Given the description of an element on the screen output the (x, y) to click on. 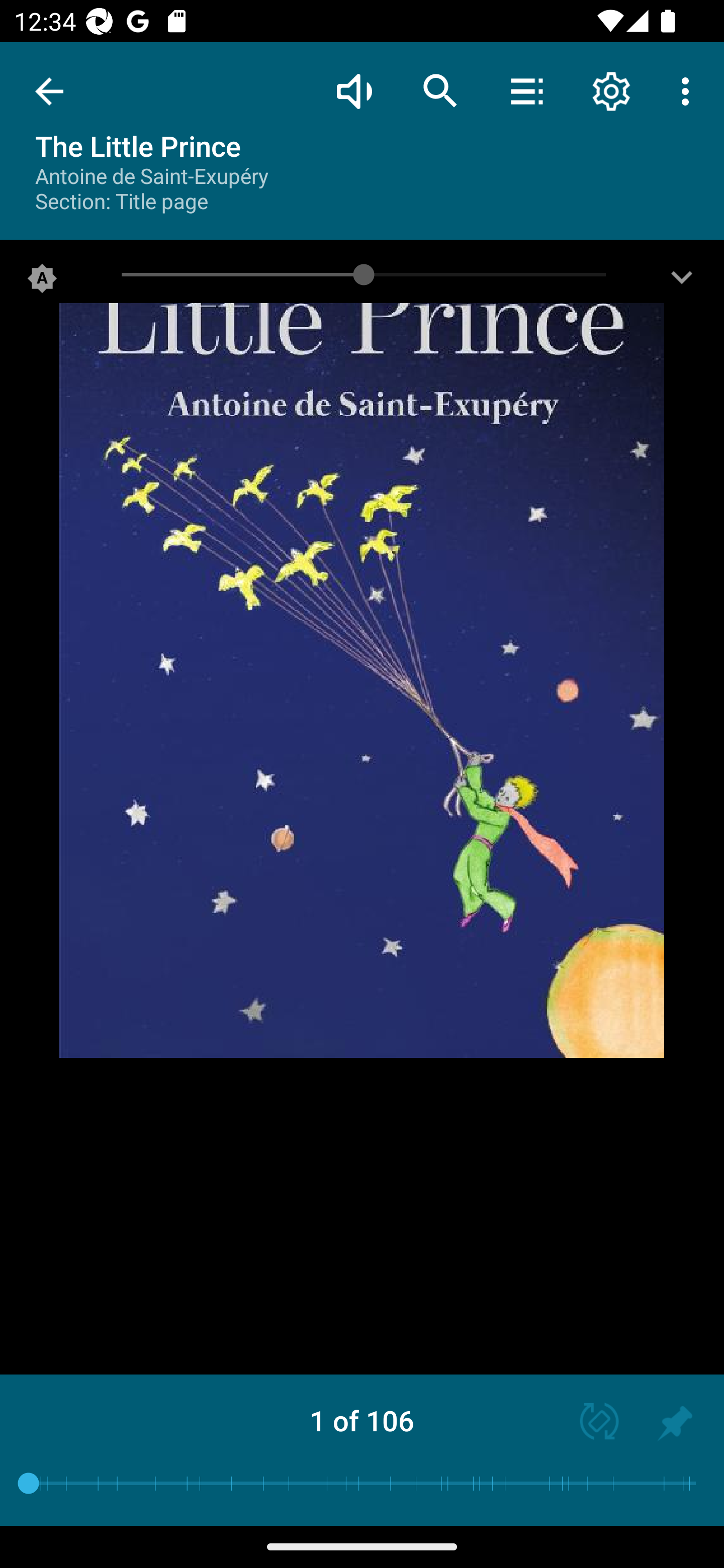
Exit reading (49, 91)
Read aloud (354, 90)
Text search (440, 90)
Contents / Bookmarks / Quotes (526, 90)
Reading settings (611, 90)
More options (688, 90)
Selected screen brightness (42, 281)
Screen brightness settings (681, 281)
1 of 106 (361, 1420)
Screen orientation (590, 1423)
Add to history (674, 1423)
